Given the description of an element on the screen output the (x, y) to click on. 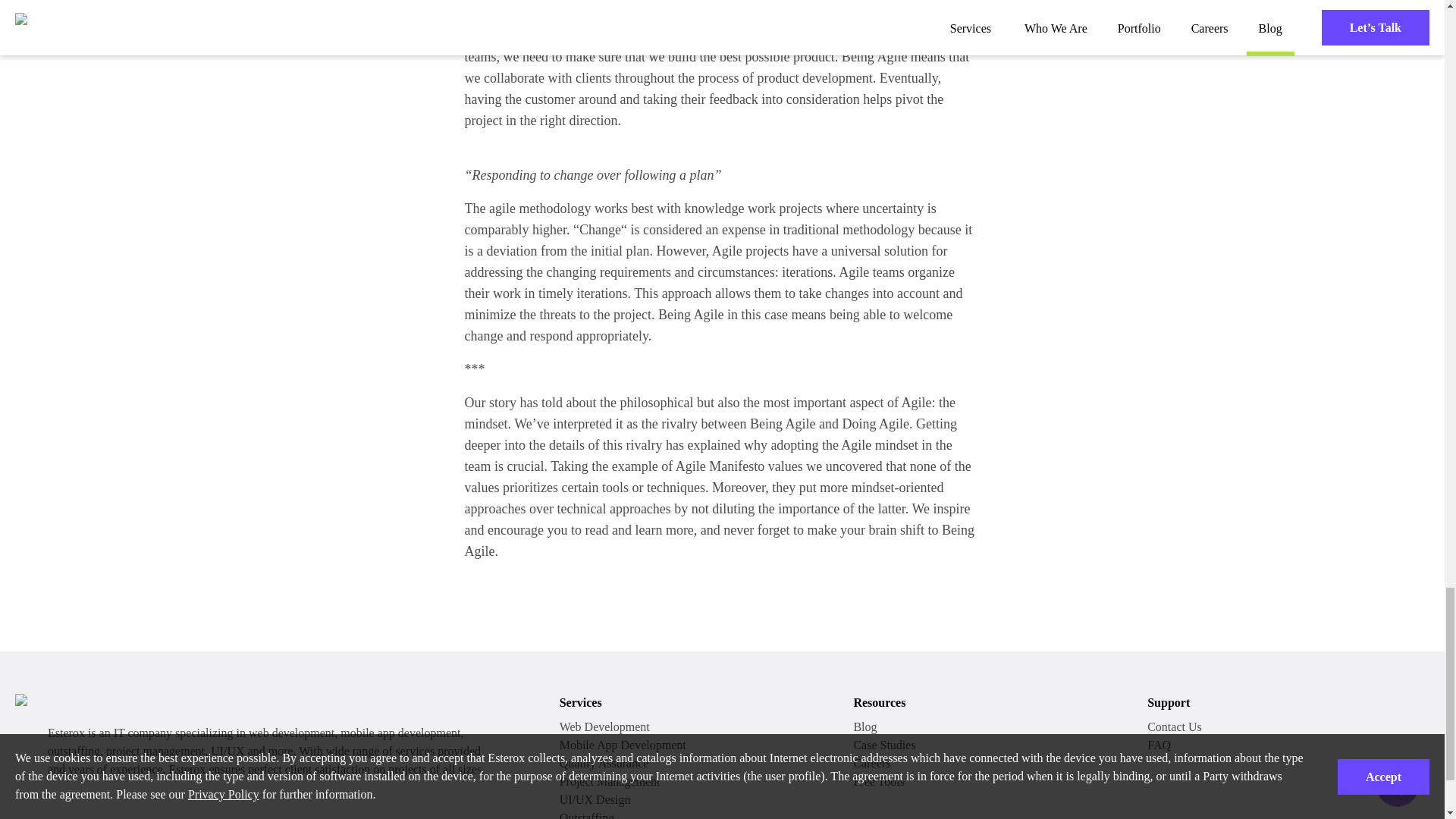
Quality Assurance (604, 762)
Mobile App Development (622, 744)
Project Management (610, 780)
Web Development (604, 726)
